Given the description of an element on the screen output the (x, y) to click on. 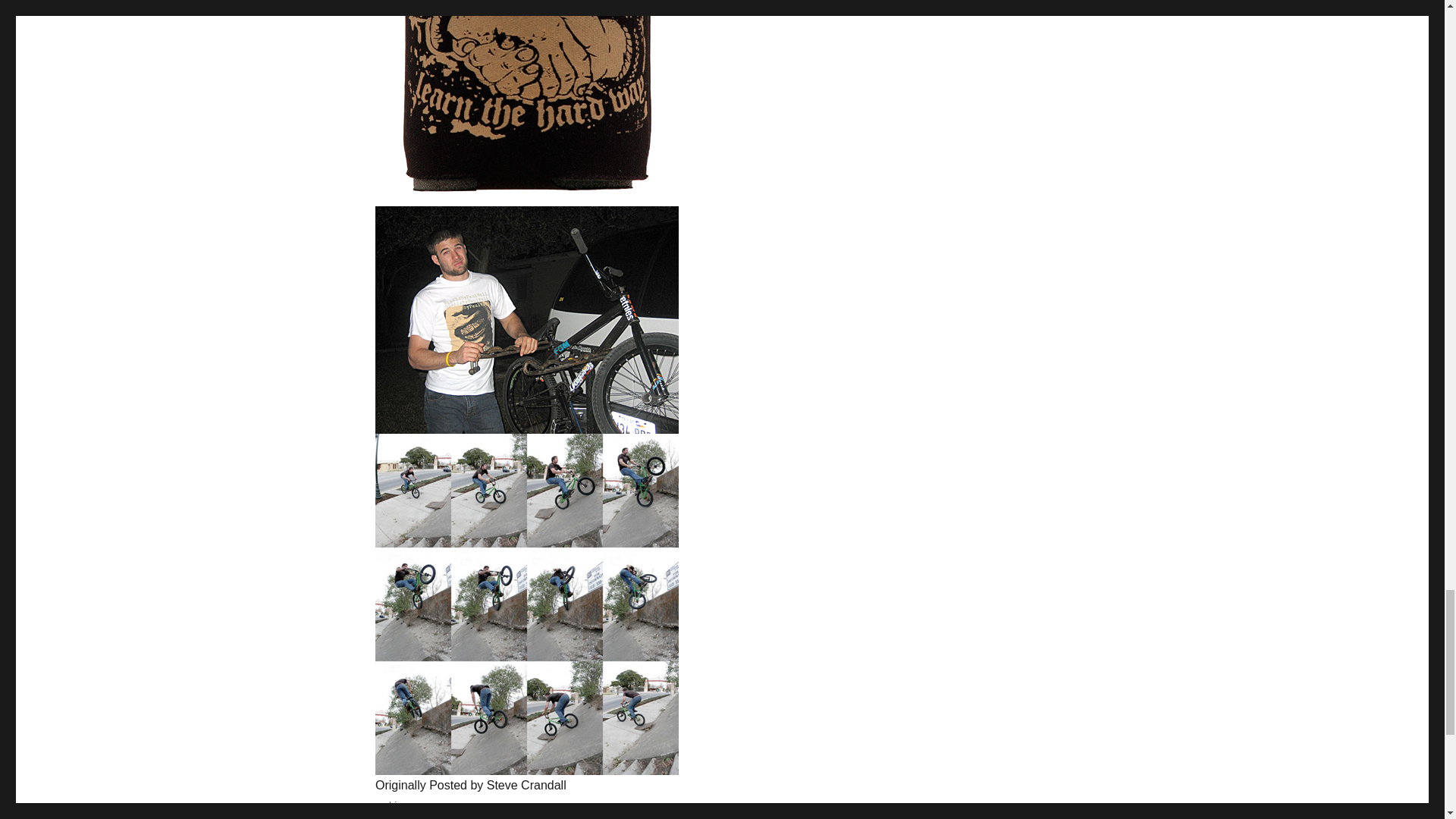
archive (391, 804)
